Given the description of an element on the screen output the (x, y) to click on. 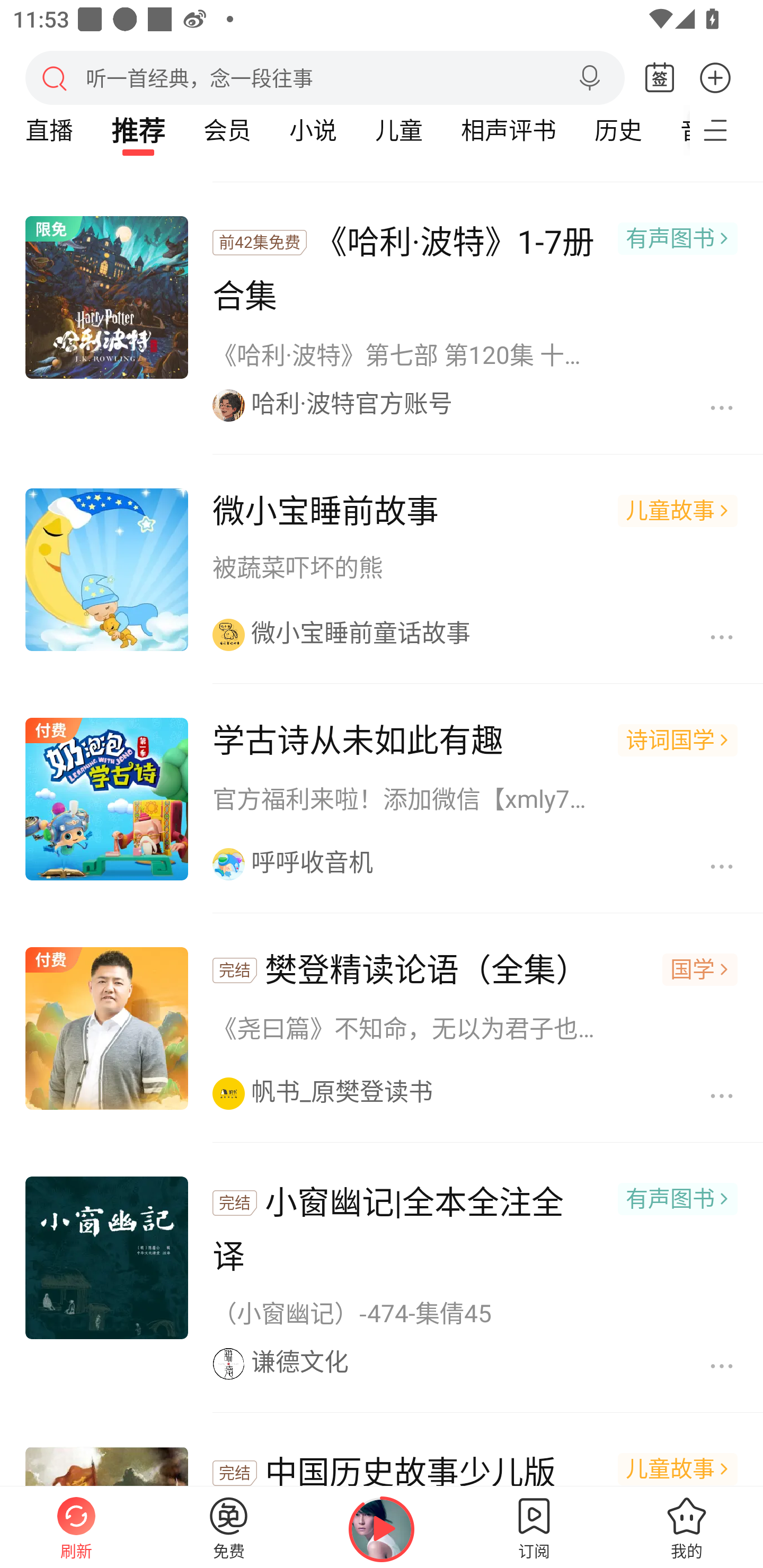
搜索 听一首经典，念一段往事 语音搜索 (324, 77)
更多 (714, 77)
签到 (659, 78)
语音搜索 (589, 78)
直播 (49, 130)
推荐 (138, 130)
会员 (227, 130)
小说 (313, 130)
儿童 (398, 130)
相声评书 (508, 130)
历史 (618, 130)
更多频道 (726, 130)
微小宝睡前故事 儿童故事    被蔬菜吓坏的熊 微小宝睡前童话故事 (381, 570)
完结 小窗幽记|全本全注全译 有声图书    （小窗幽记）-474-集倩45 谦德文化 (381, 1279)
完结 中国历史故事少儿版（秦汉三国） 儿童故事    (381, 1452)
刷新 (76, 1526)
免费 (228, 1526)
订阅 (533, 1526)
我的 (686, 1526)
继续播放Alpha-橘子海OrangeOcean (381, 1529)
